Given the description of an element on the screen output the (x, y) to click on. 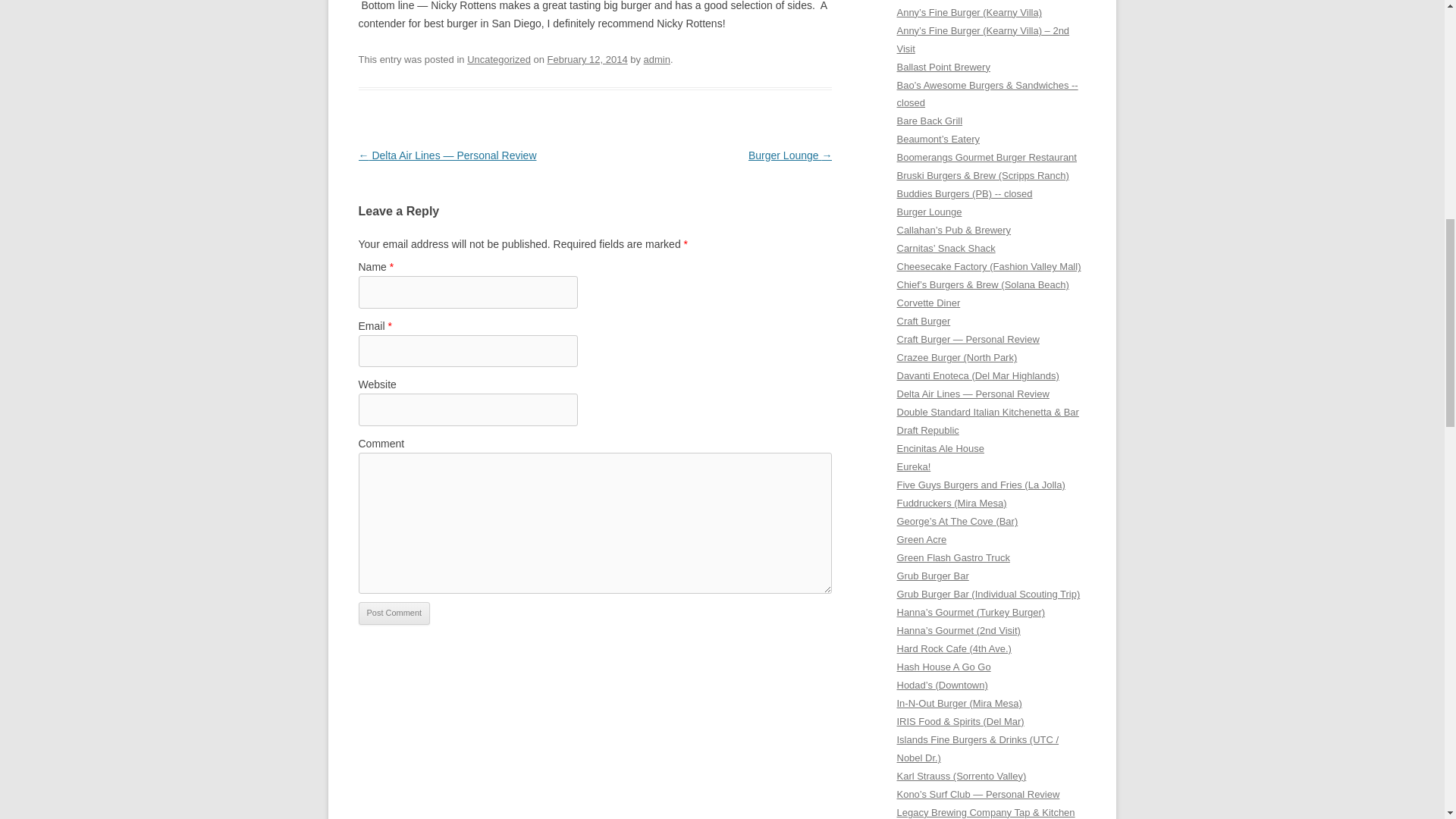
Ballast Point Brewery (943, 66)
February 12, 2014 (587, 59)
Uncategorized (499, 59)
Post Comment (393, 612)
Post Comment (393, 612)
Bare Back Grill (929, 120)
2:48 pm (587, 59)
View all posts by admin (656, 59)
admin (656, 59)
Boomerangs Gourmet Burger Restaurant (985, 156)
